Given the description of an element on the screen output the (x, y) to click on. 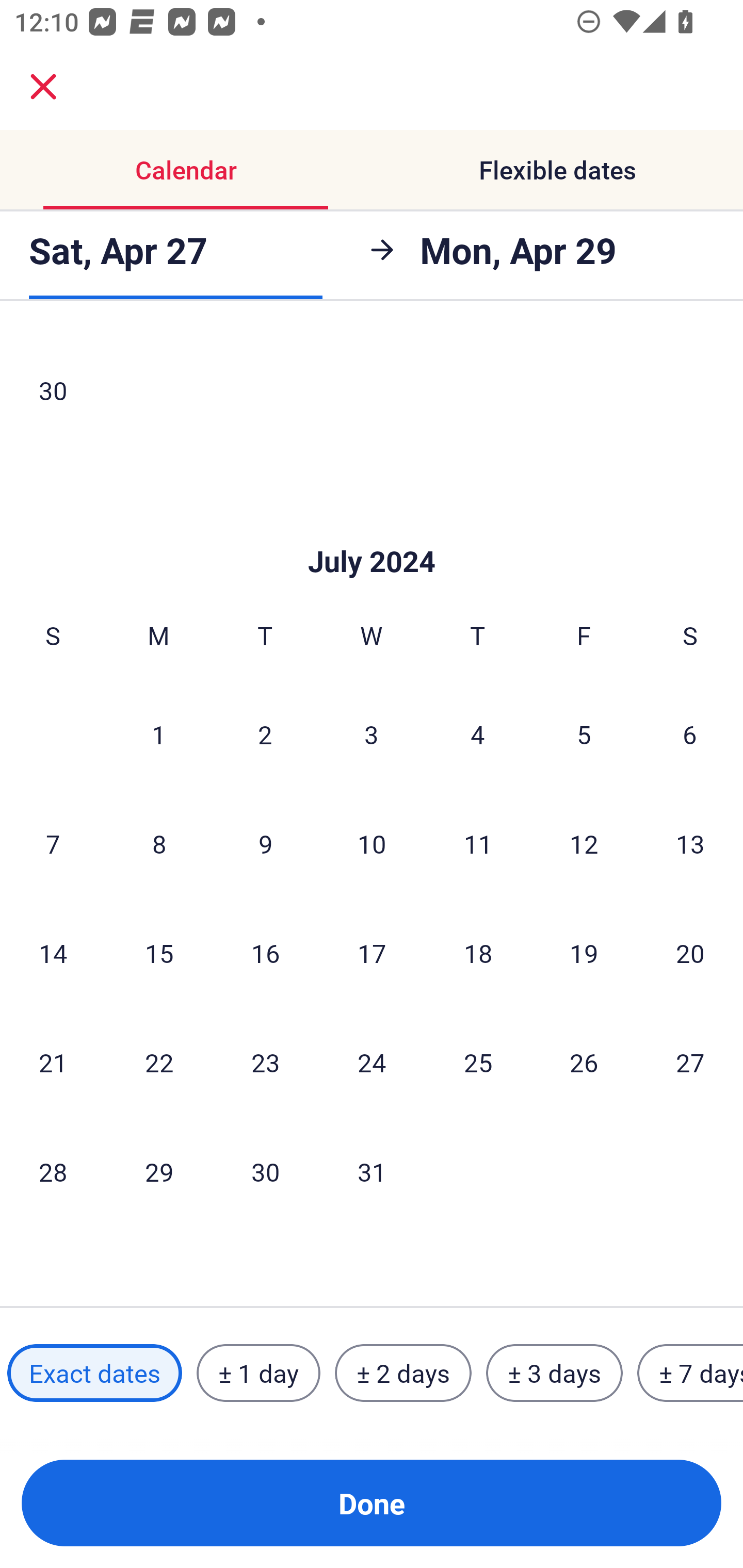
close. (43, 86)
Flexible dates (557, 170)
30 Sunday, June 30, 2024 (53, 390)
Skip to Done (371, 530)
1 Monday, July 1, 2024 (158, 734)
2 Tuesday, July 2, 2024 (264, 734)
3 Wednesday, July 3, 2024 (371, 734)
4 Thursday, July 4, 2024 (477, 734)
5 Friday, July 5, 2024 (583, 734)
6 Saturday, July 6, 2024 (689, 734)
7 Sunday, July 7, 2024 (53, 843)
8 Monday, July 8, 2024 (159, 843)
9 Tuesday, July 9, 2024 (265, 843)
10 Wednesday, July 10, 2024 (371, 843)
11 Thursday, July 11, 2024 (477, 843)
12 Friday, July 12, 2024 (584, 843)
13 Saturday, July 13, 2024 (690, 843)
14 Sunday, July 14, 2024 (53, 952)
15 Monday, July 15, 2024 (159, 952)
16 Tuesday, July 16, 2024 (265, 952)
17 Wednesday, July 17, 2024 (371, 952)
18 Thursday, July 18, 2024 (477, 952)
19 Friday, July 19, 2024 (584, 952)
20 Saturday, July 20, 2024 (690, 952)
21 Sunday, July 21, 2024 (53, 1061)
22 Monday, July 22, 2024 (159, 1061)
23 Tuesday, July 23, 2024 (265, 1061)
24 Wednesday, July 24, 2024 (371, 1061)
25 Thursday, July 25, 2024 (477, 1061)
26 Friday, July 26, 2024 (584, 1061)
27 Saturday, July 27, 2024 (690, 1061)
28 Sunday, July 28, 2024 (53, 1170)
29 Monday, July 29, 2024 (159, 1170)
30 Tuesday, July 30, 2024 (265, 1170)
31 Wednesday, July 31, 2024 (371, 1170)
Exact dates (94, 1372)
± 1 day (258, 1372)
± 2 days (403, 1372)
± 3 days (553, 1372)
± 7 days (690, 1372)
Done (371, 1502)
